Given the description of an element on the screen output the (x, y) to click on. 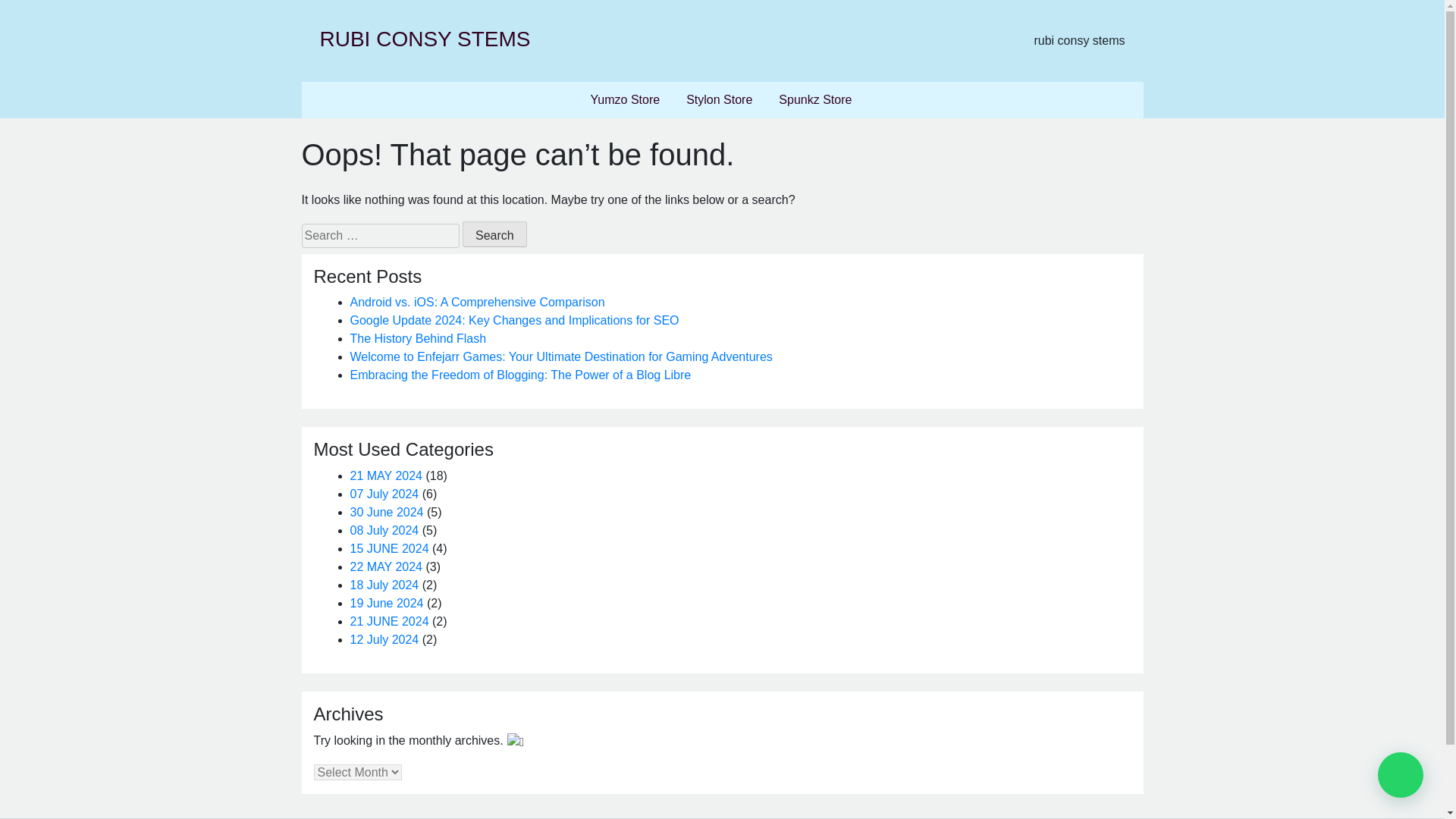
Google Update 2024: Key Changes and Implications for SEO (514, 319)
18 July 2024 (384, 584)
Search (495, 234)
12 July 2024 (384, 639)
07 July 2024 (384, 493)
RUBI CONSY STEMS (425, 38)
The History Behind Flash (418, 338)
22 MAY 2024 (386, 566)
Stylon Store (719, 99)
Spunkz Store (815, 99)
Search (495, 234)
21 MAY 2024 (386, 475)
19 June 2024 (386, 603)
Embracing the Freedom of Blogging: The Power of a Blog Libre (520, 374)
